Given the description of an element on the screen output the (x, y) to click on. 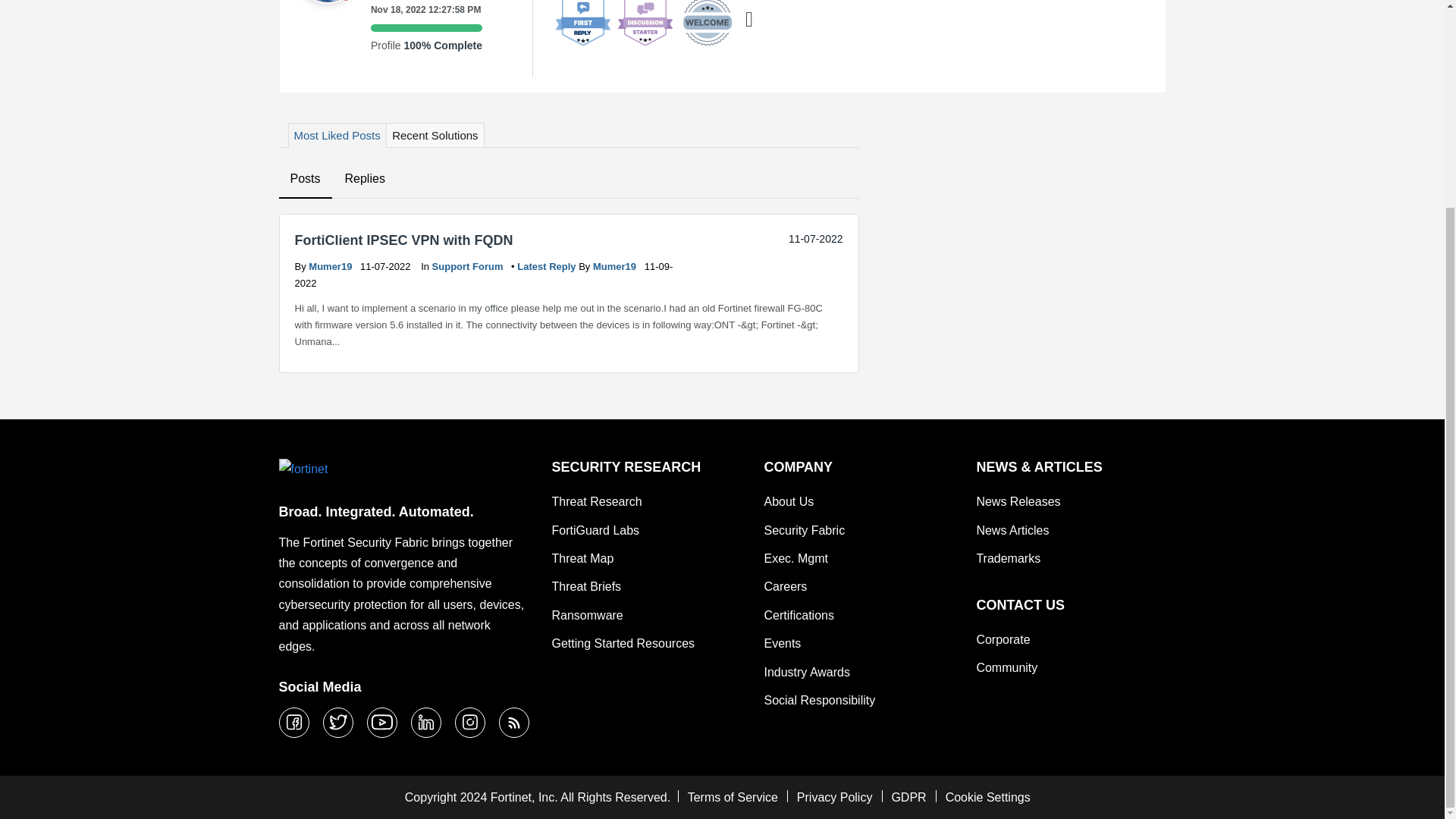
View profile (615, 266)
mumer19 (326, 1)
Discussion Starter (644, 24)
Welcome (706, 24)
First Reply (582, 24)
View post (547, 266)
View profile (331, 266)
11-07-2022 10:43 AM 11-07-2022 10:43 AM (816, 238)
